Given the description of an element on the screen output the (x, y) to click on. 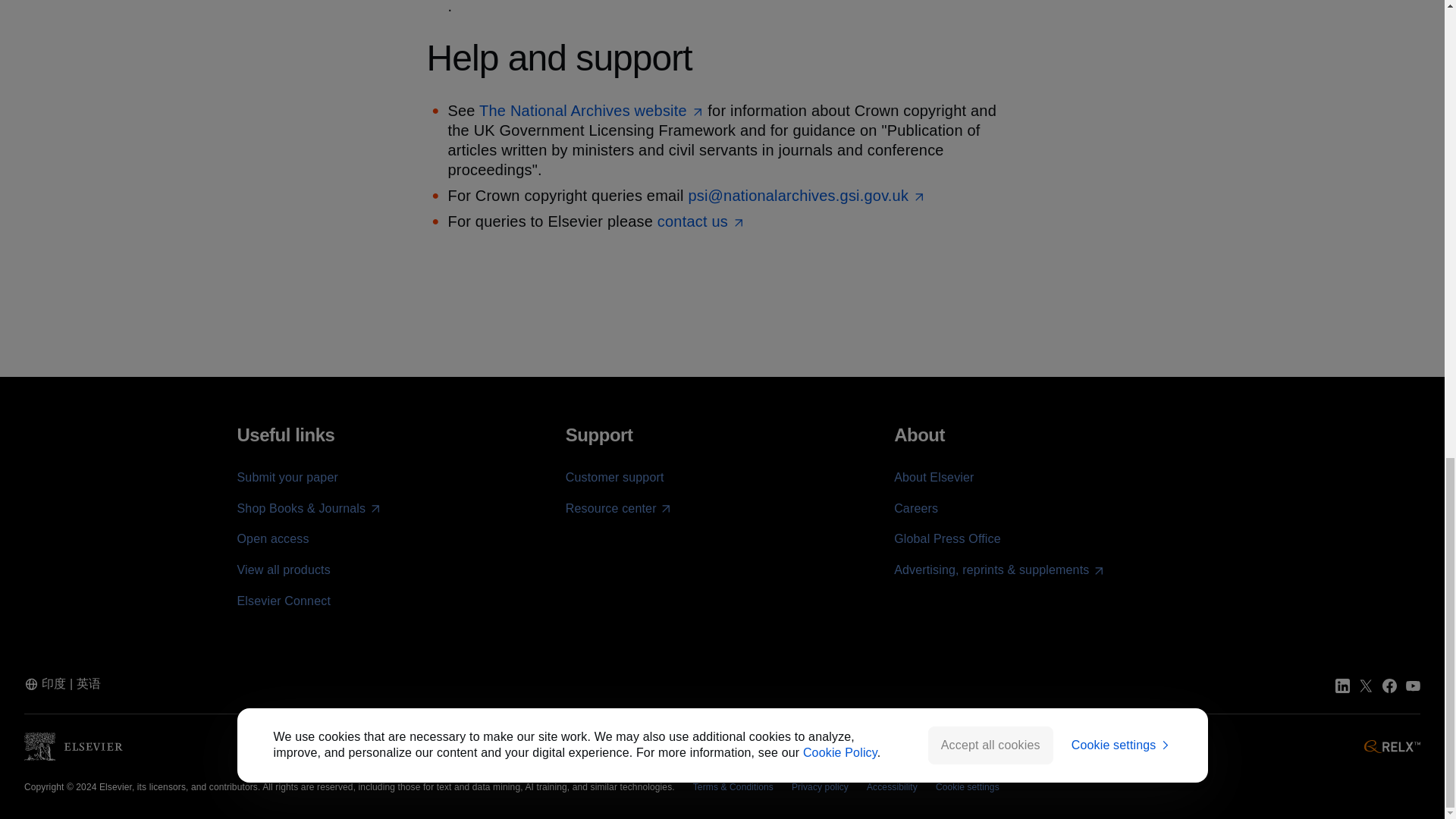
Submit your paper (286, 477)
